Given the description of an element on the screen output the (x, y) to click on. 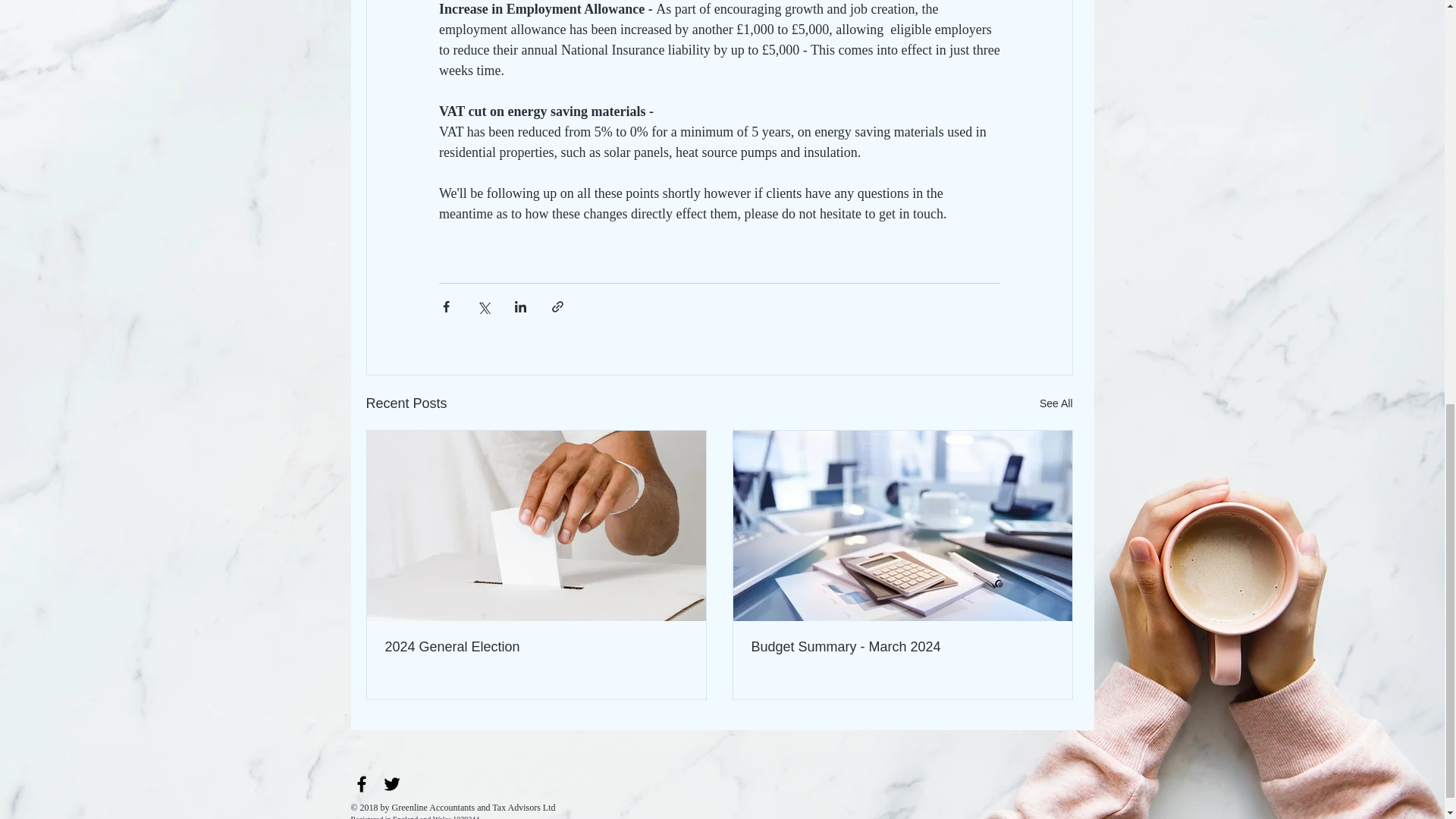
Budget Summary - March 2024 (901, 647)
2024 General Election (536, 647)
See All (1056, 403)
